Given the description of an element on the screen output the (x, y) to click on. 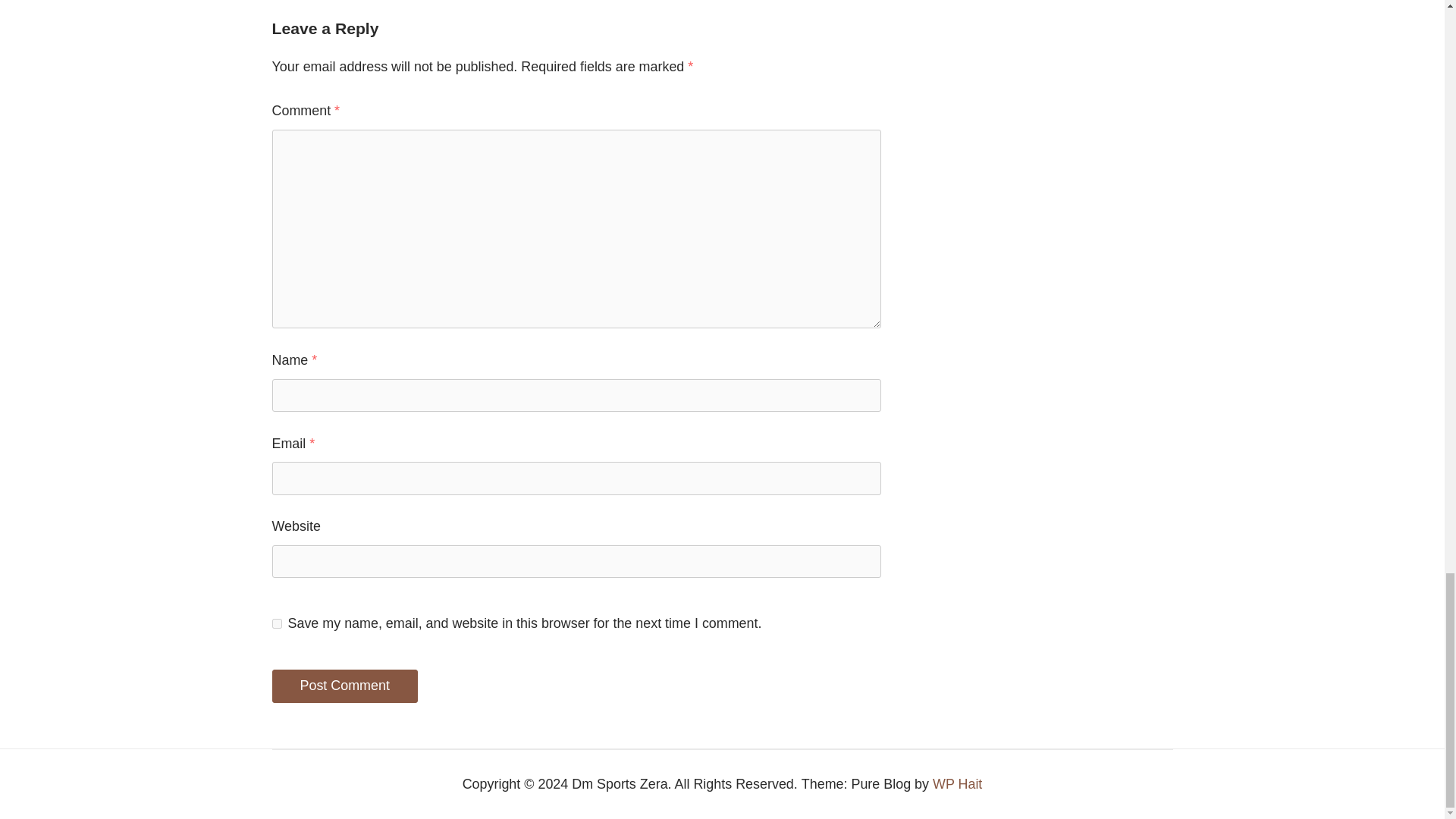
Post Comment (343, 685)
yes (275, 623)
